Given the description of an element on the screen output the (x, y) to click on. 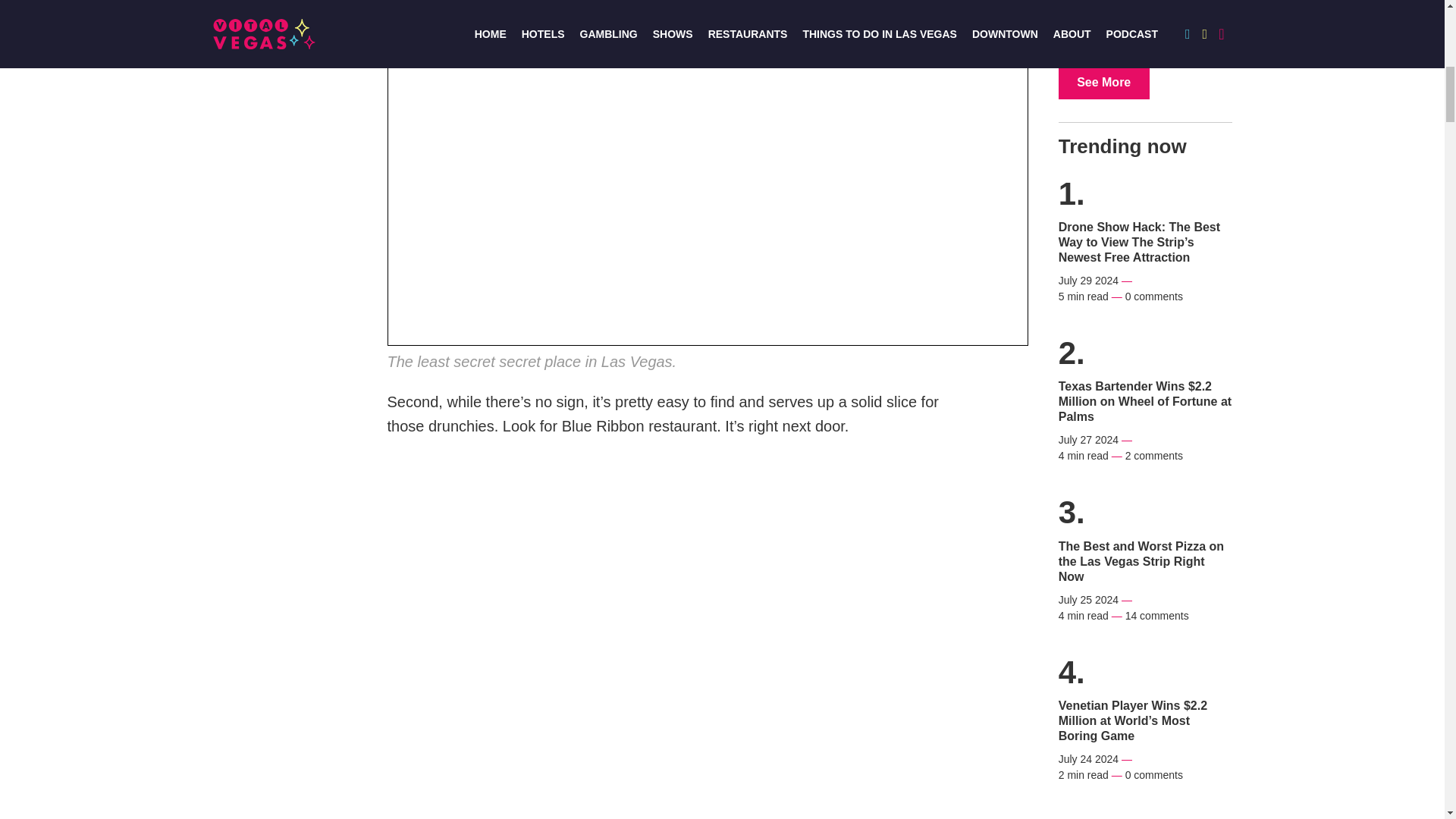
Las Vegas (1104, 82)
